Given the description of an element on the screen output the (x, y) to click on. 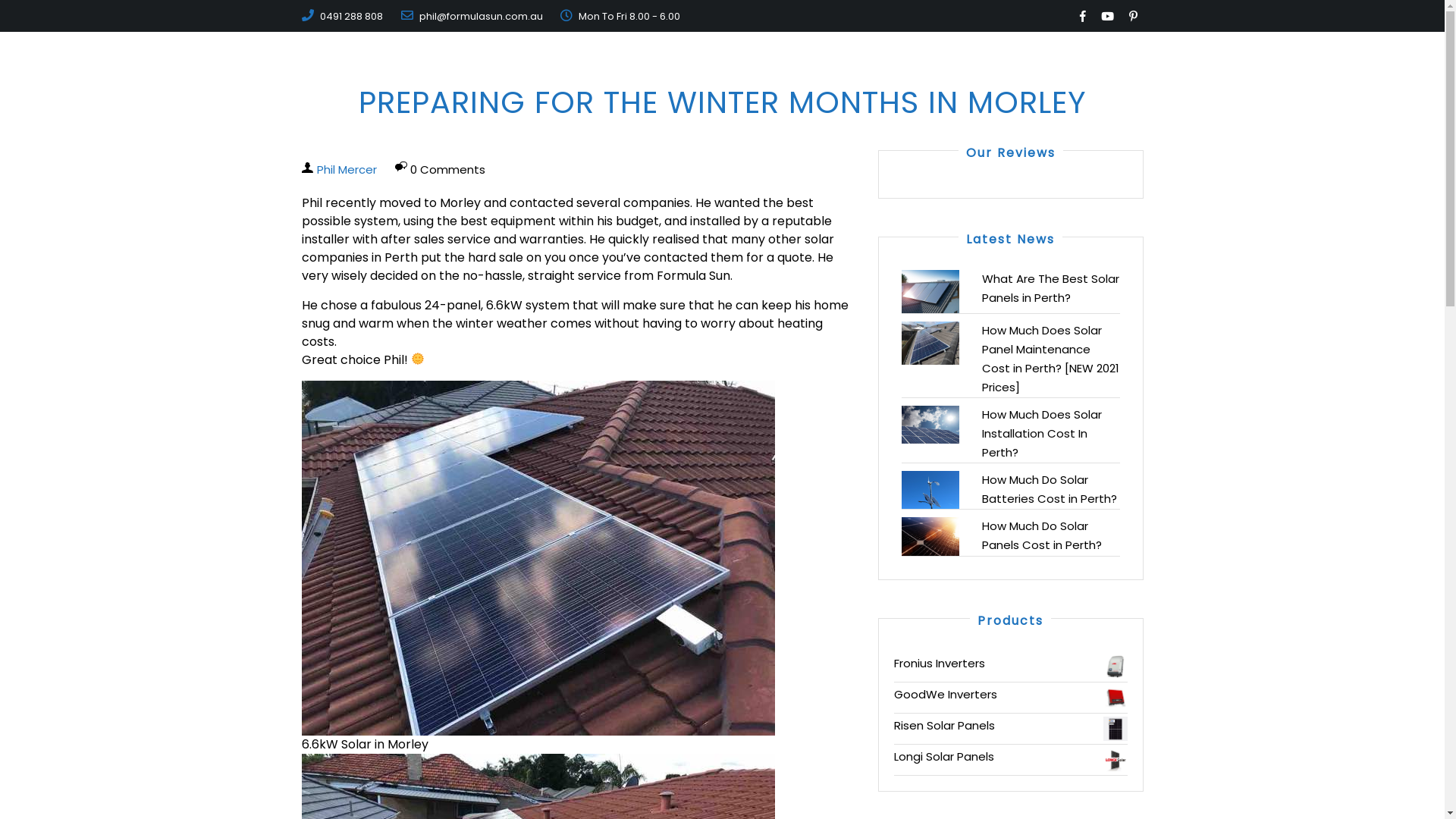
Longi Solar Panels Element type: text (1009, 756)
Phil Mercer Element type: text (346, 169)
How Much Do Solar Panels Cost in Perth? Element type: text (1041, 534)
How Much Does Solar Installation Cost In Perth? Element type: text (1041, 433)
Risen Solar Panels Element type: text (1009, 725)
How Much Do Solar Batteries Cost in Perth? Element type: text (1048, 488)
Fronius Inverters Element type: text (1009, 663)
What Are The Best Solar Panels in Perth? Element type: text (1049, 287)
GoodWe Inverters Element type: text (1009, 694)
